Given the description of an element on the screen output the (x, y) to click on. 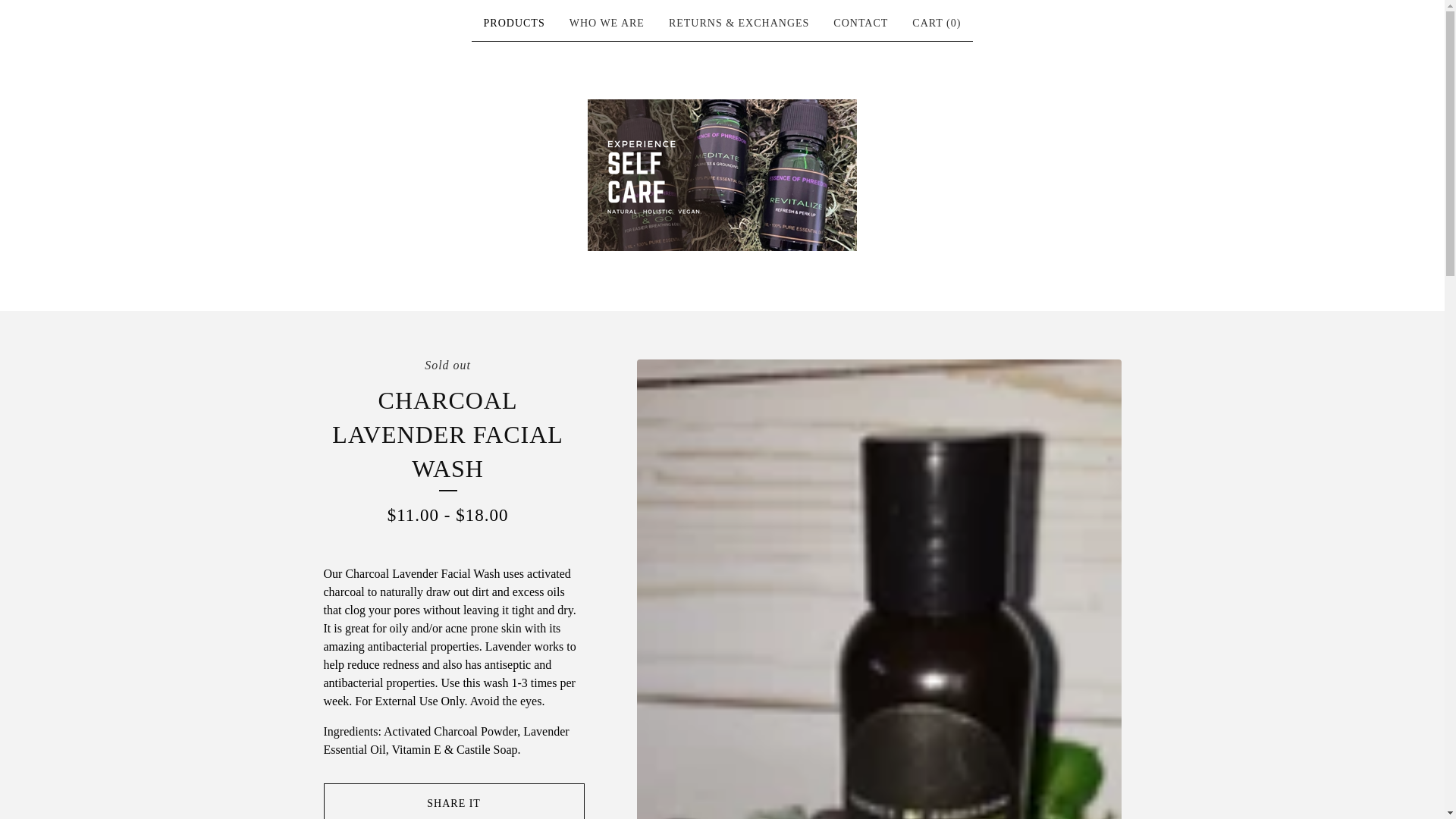
Home (722, 174)
WHO WE ARE (606, 23)
PRODUCTS (514, 23)
View Who We Are (606, 23)
CONTACT (860, 23)
